Given the description of an element on the screen output the (x, y) to click on. 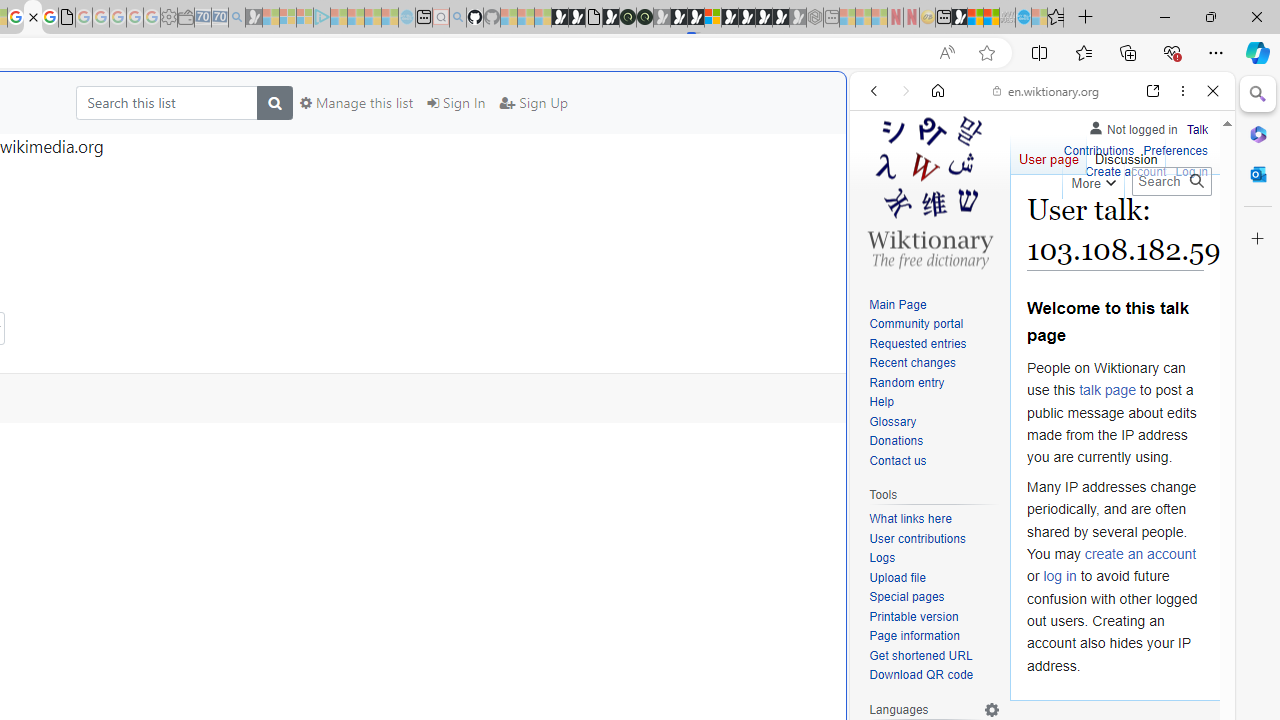
Download QR code (934, 676)
Log in (1191, 172)
Requested entries (934, 344)
talk page (1107, 390)
Random entry (934, 382)
Search Wiktionary (1171, 181)
